Given the description of an element on the screen output the (x, y) to click on. 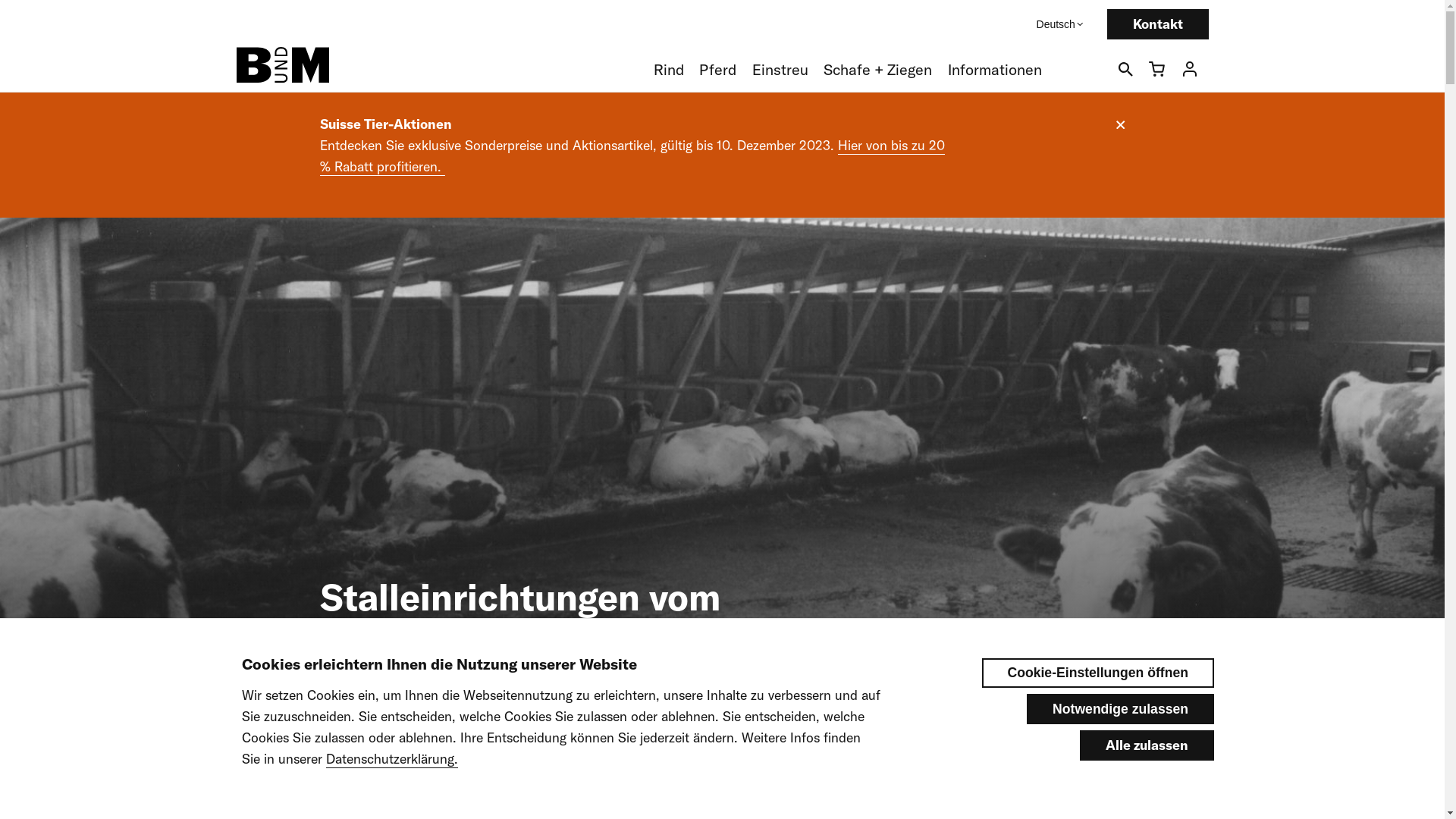
Pferd Element type: text (717, 68)
Schafe + Ziegen Element type: text (877, 68)
Alle zulassen Element type: text (1146, 745)
Notwendige zulassen Element type: text (1120, 708)
Rind Element type: text (668, 68)
Kontakt Element type: text (1157, 24)
Hier von bis zu 20 % Rabatt profitieren.  Element type: text (632, 155)
Einstreu Element type: text (780, 68)
Direkt zum Inhalt Element type: text (0, 0)
Withdraw consent Element type: text (1146, 674)
